Given the description of an element on the screen output the (x, y) to click on. 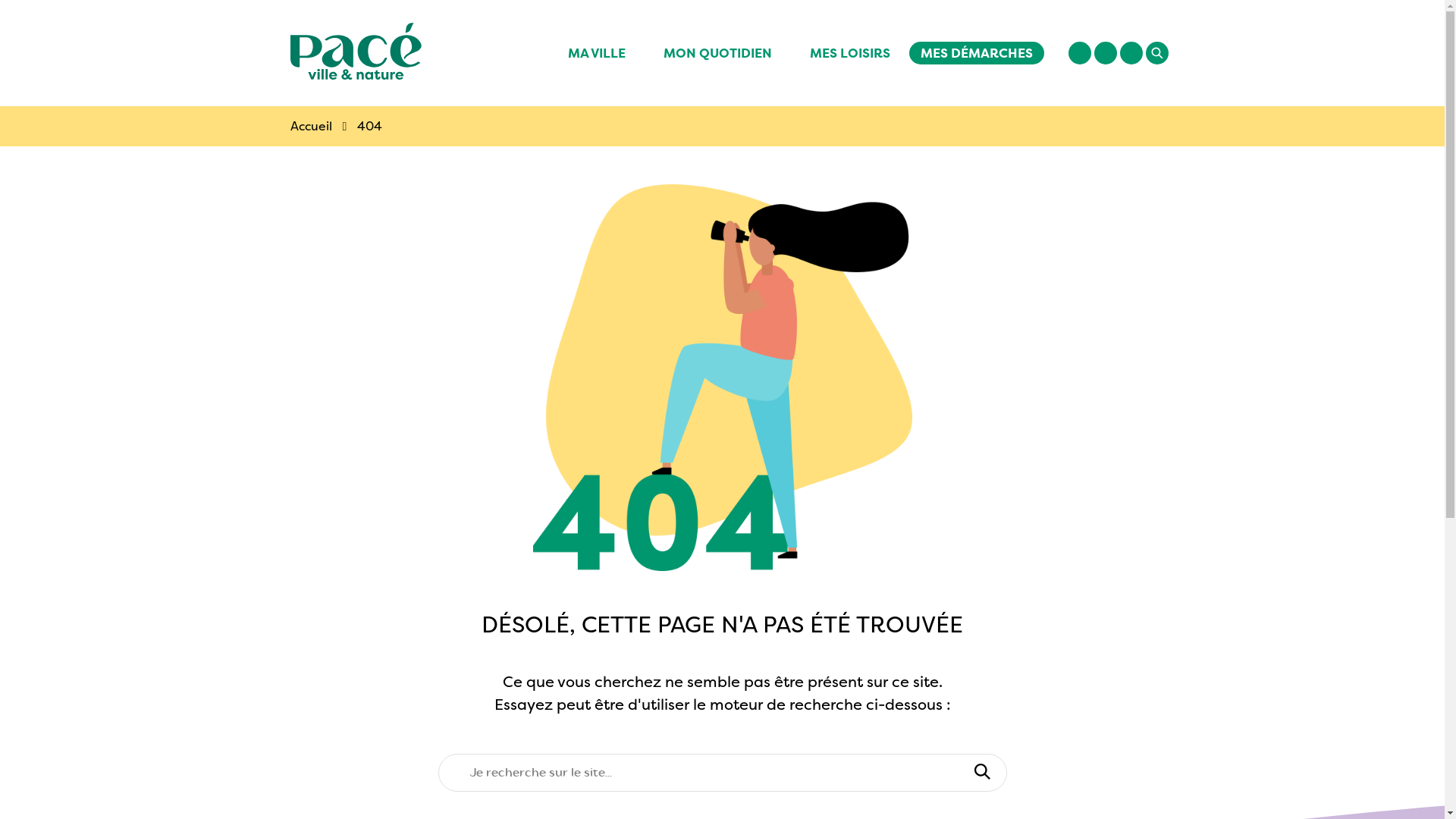
MA VILLE Element type: text (596, 53)
MES LOISIRS Element type: text (849, 53)
MON QUOTIDIEN Element type: text (717, 53)
Rechercher Element type: text (981, 772)
Recherche Element type: text (1157, 53)
Accueil Element type: text (310, 125)
